Given the description of an element on the screen output the (x, y) to click on. 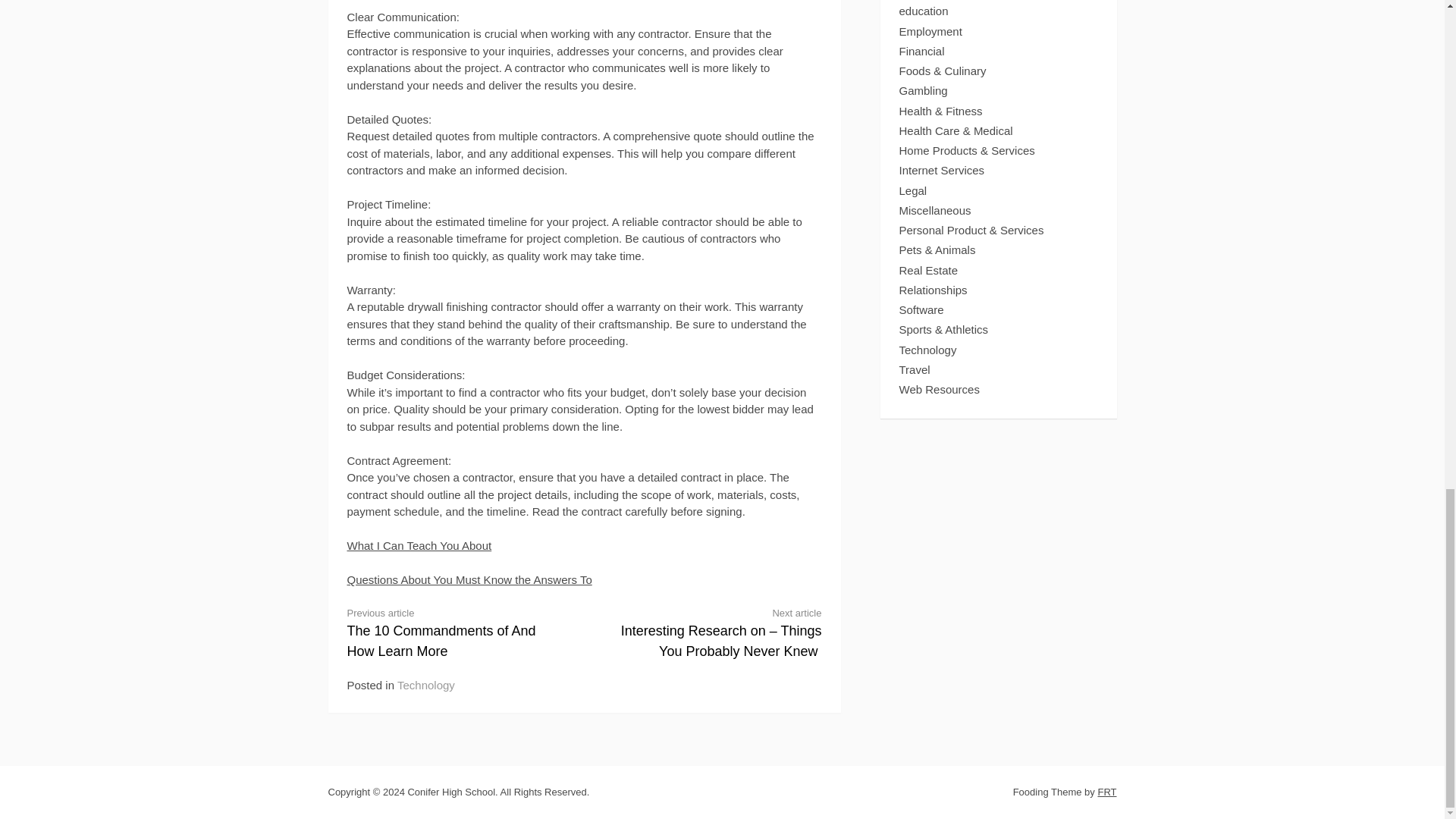
Questions About You Must Know the Answers To (469, 579)
What I Can Teach You About (419, 545)
Technology (425, 684)
education (924, 10)
